Given the description of an element on the screen output the (x, y) to click on. 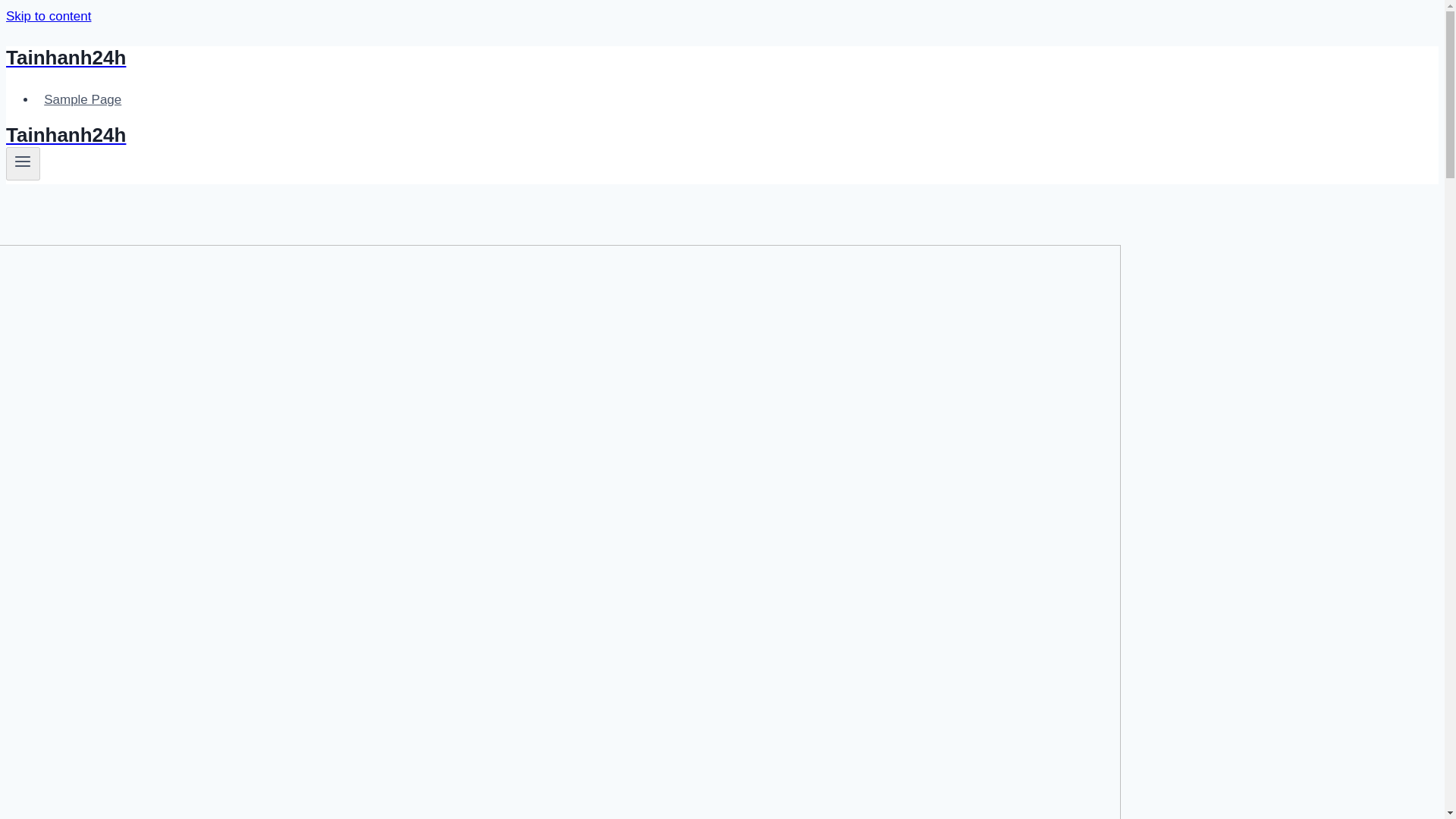
Tainhanh24h (494, 135)
Tainhanh24h (494, 57)
Sample Page (82, 99)
Skip to content (47, 16)
Toggle Menu (22, 161)
Skip to content (47, 16)
Toggle Menu (22, 163)
